Given the description of an element on the screen output the (x, y) to click on. 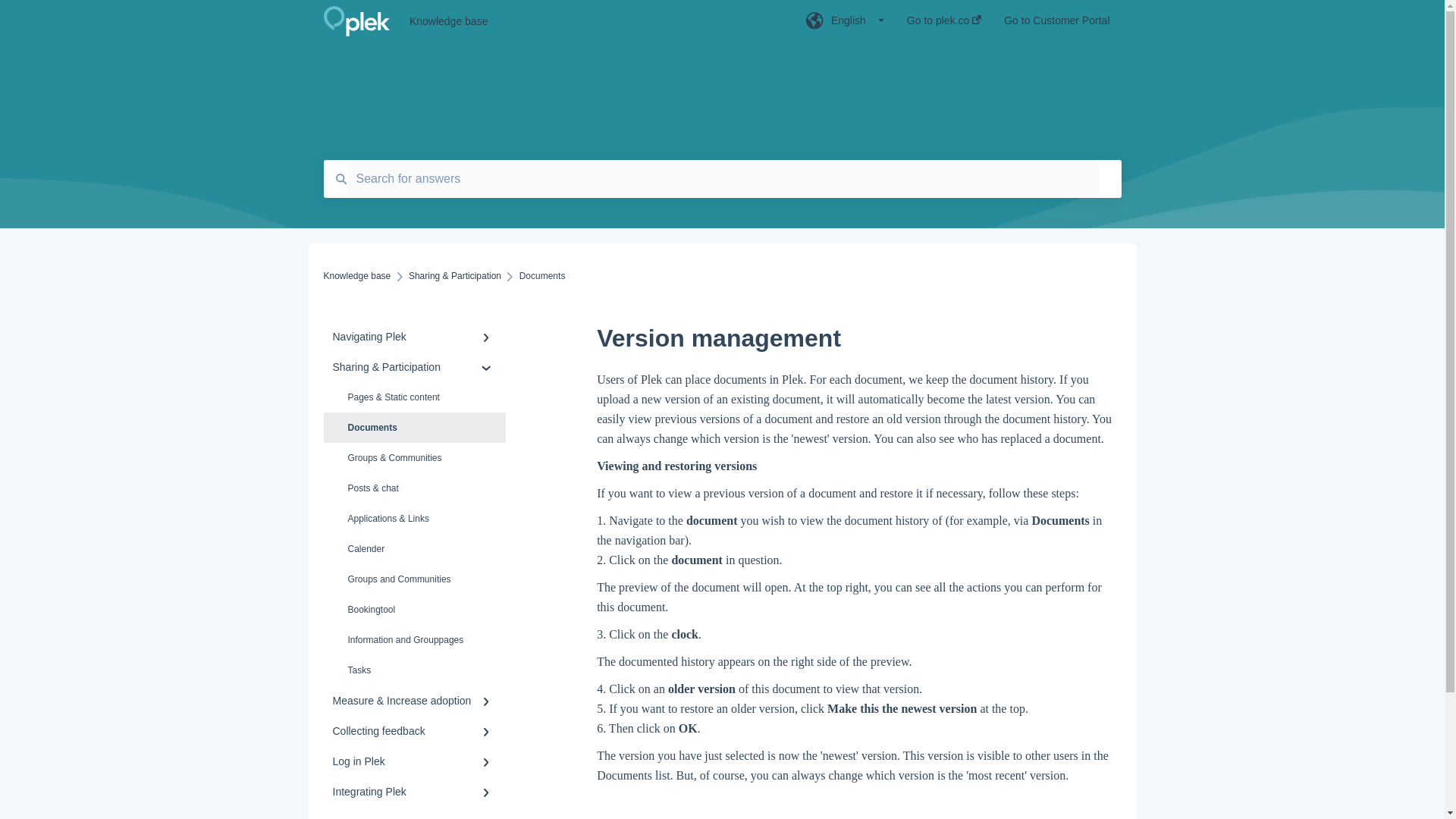
Knowledge base (584, 21)
Go to Customer Portal (1056, 25)
Go to plek.co (944, 25)
English (844, 25)
